Given the description of an element on the screen output the (x, y) to click on. 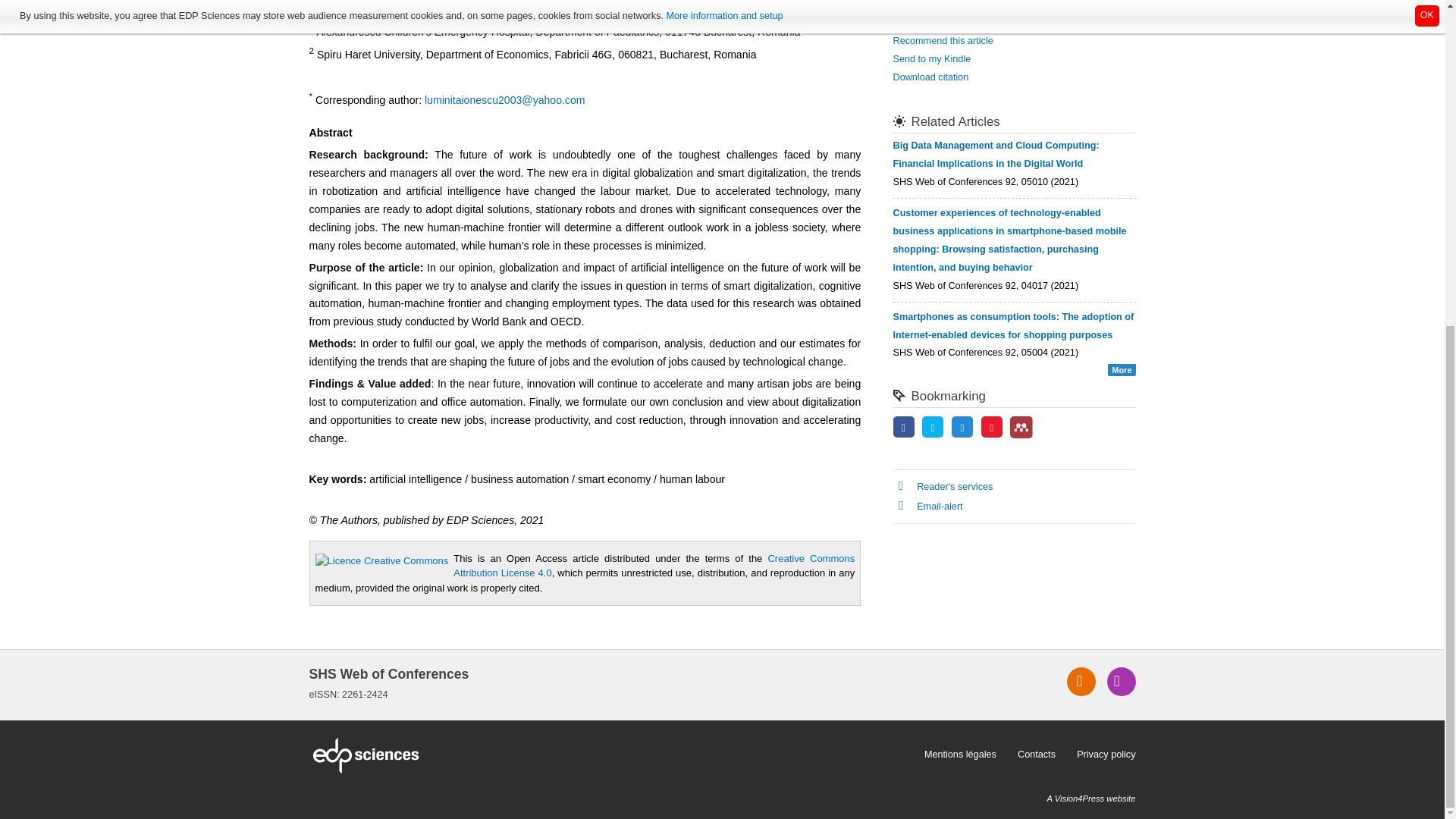
Mendeley (1021, 427)
